Given the description of an element on the screen output the (x, y) to click on. 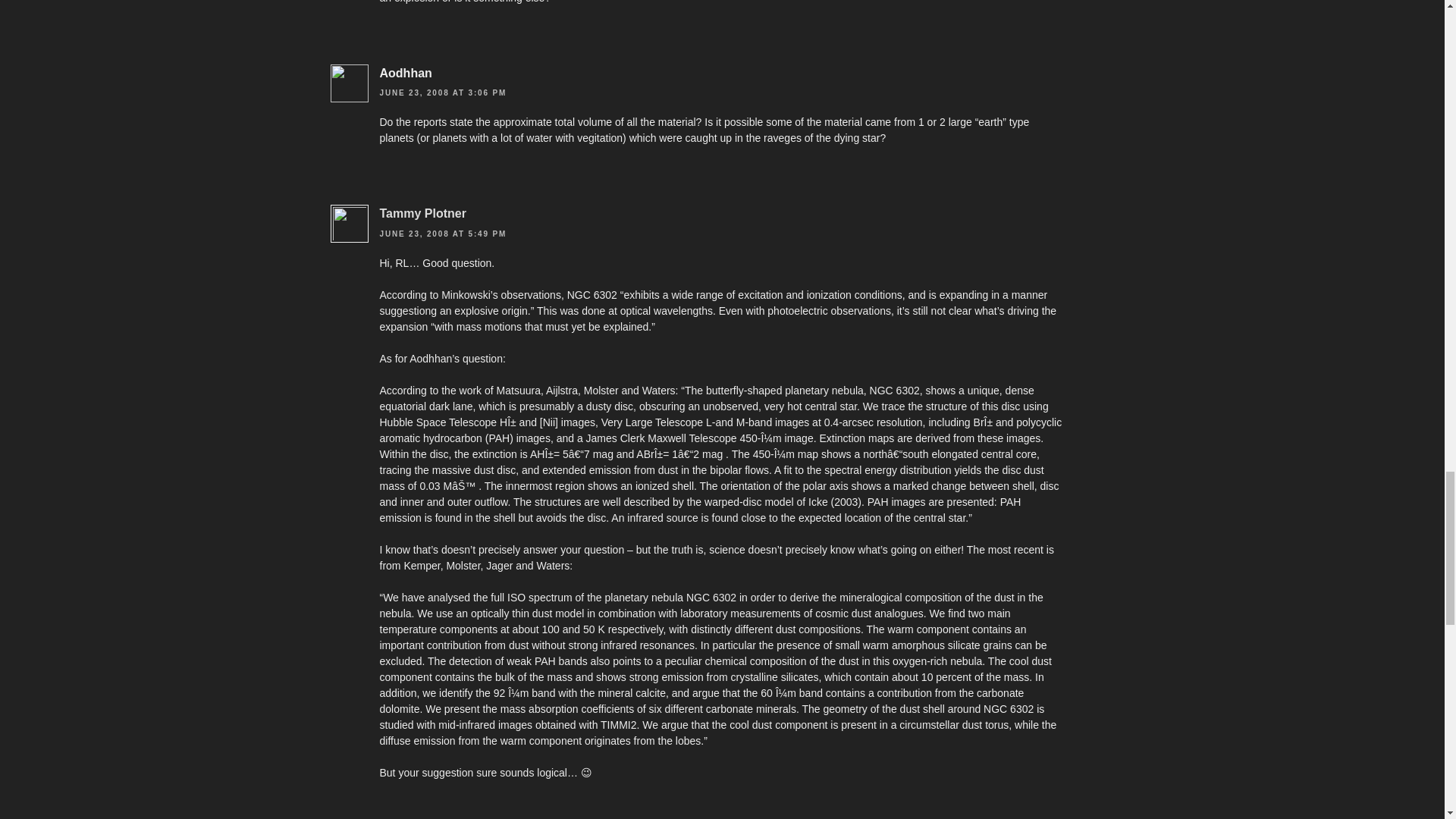
JUNE 23, 2008 AT 3:06 PM (442, 92)
Tammy Plotner (421, 213)
JUNE 23, 2008 AT 5:49 PM (442, 234)
